Given the description of an element on the screen output the (x, y) to click on. 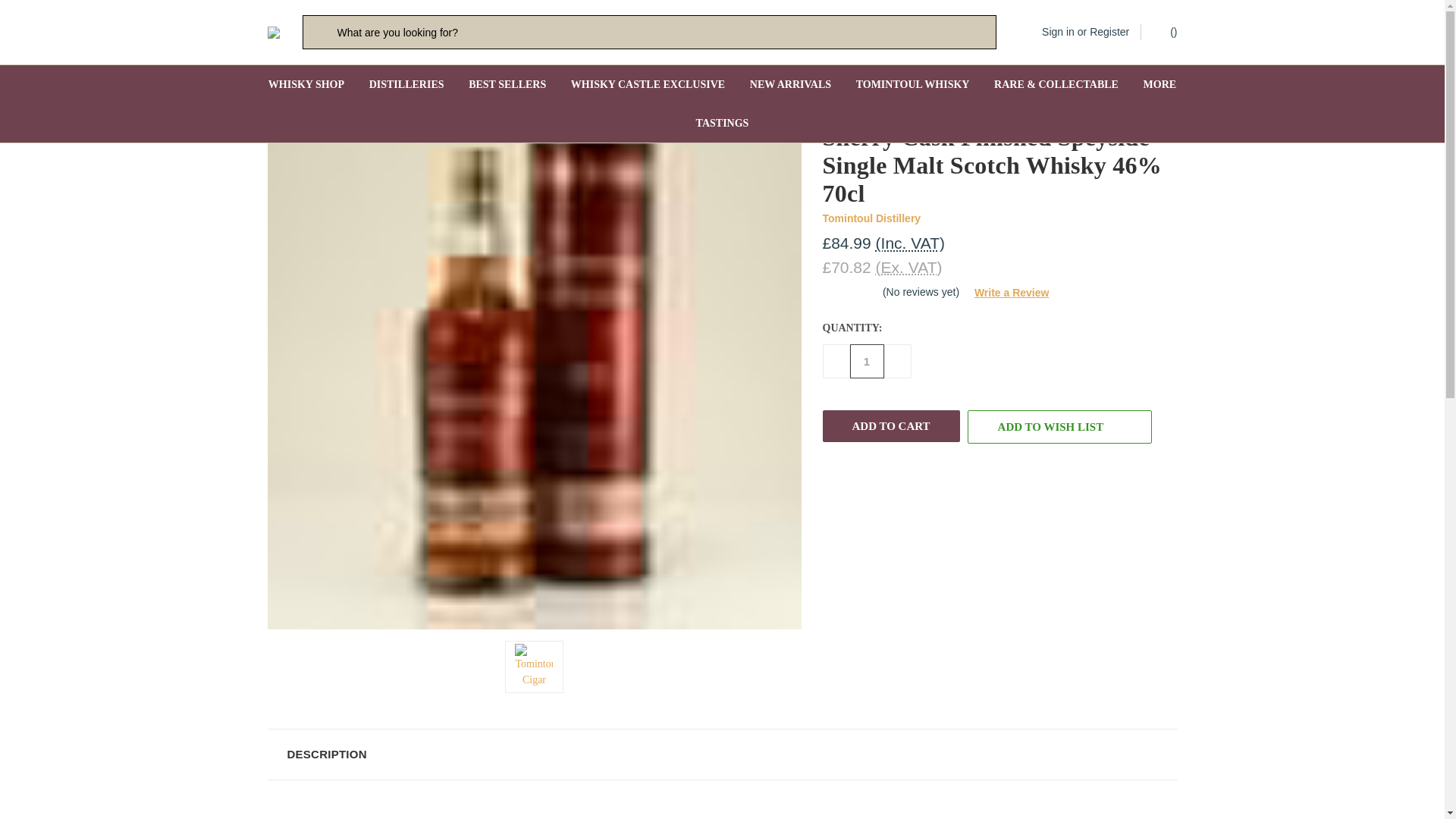
Sign in (1058, 32)
1 (865, 360)
Including Tax (910, 242)
Register (1109, 32)
Add to Cart (890, 426)
Excluding Tax (909, 267)
The Whisky Castle (272, 31)
WHISKY SHOP (306, 84)
